Given the description of an element on the screen output the (x, y) to click on. 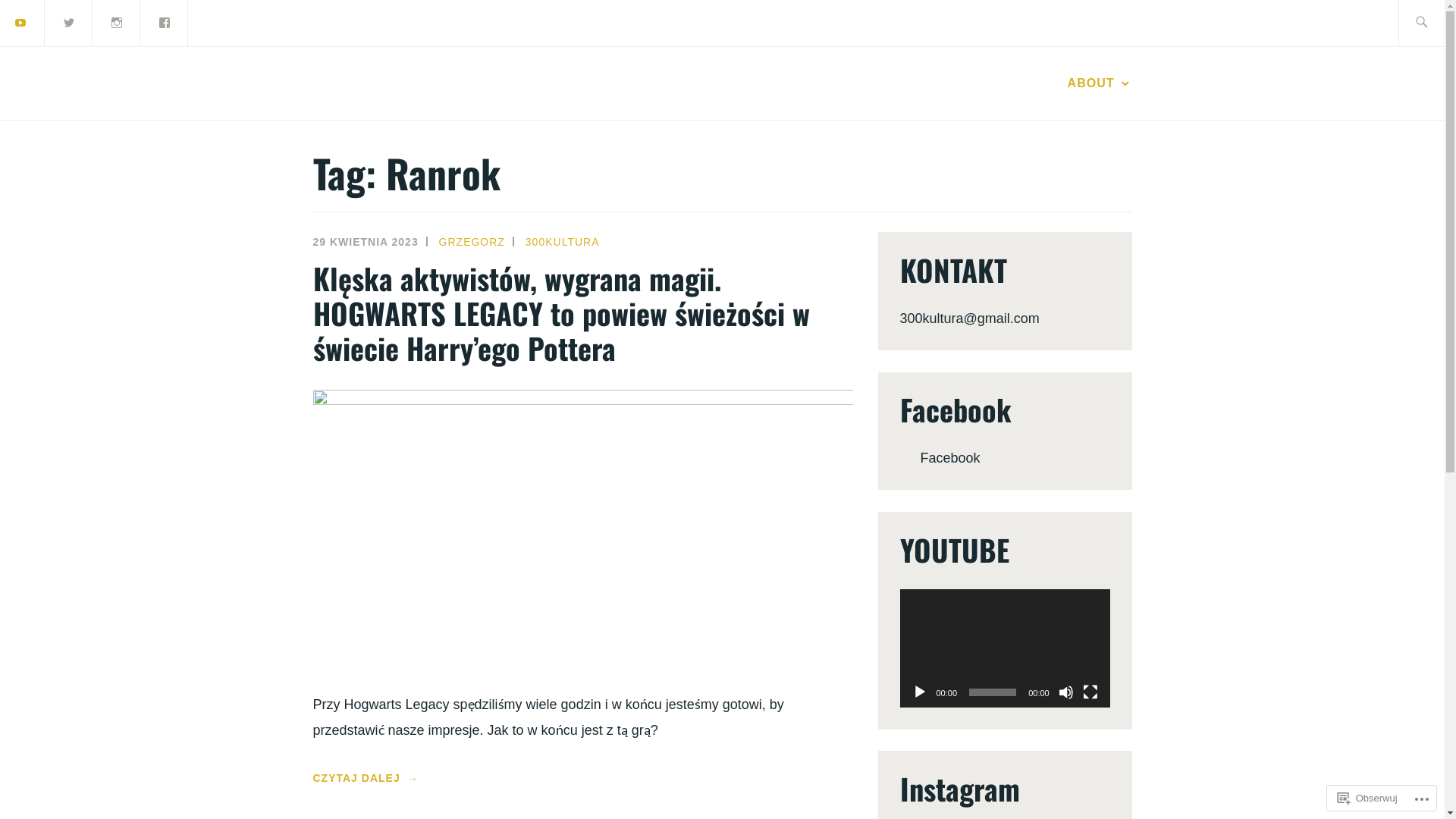
Szukaj Element type: text (45, 21)
Szukaj: Element type: hover (1438, 23)
ABOUT Element type: text (1099, 83)
Wycisz Element type: hover (1065, 691)
300 KULTURA Element type: text (474, 122)
Facebook Element type: text (954, 408)
Facebook Element type: text (950, 457)
300kultura@gmail.com Element type: text (968, 318)
Obserwuj Element type: text (1367, 797)
300KULTURA Element type: text (562, 241)
GRZEGORZ Element type: text (472, 241)
29 KWIETNIA 2023 Element type: text (364, 241)
